Given the description of an element on the screen output the (x, y) to click on. 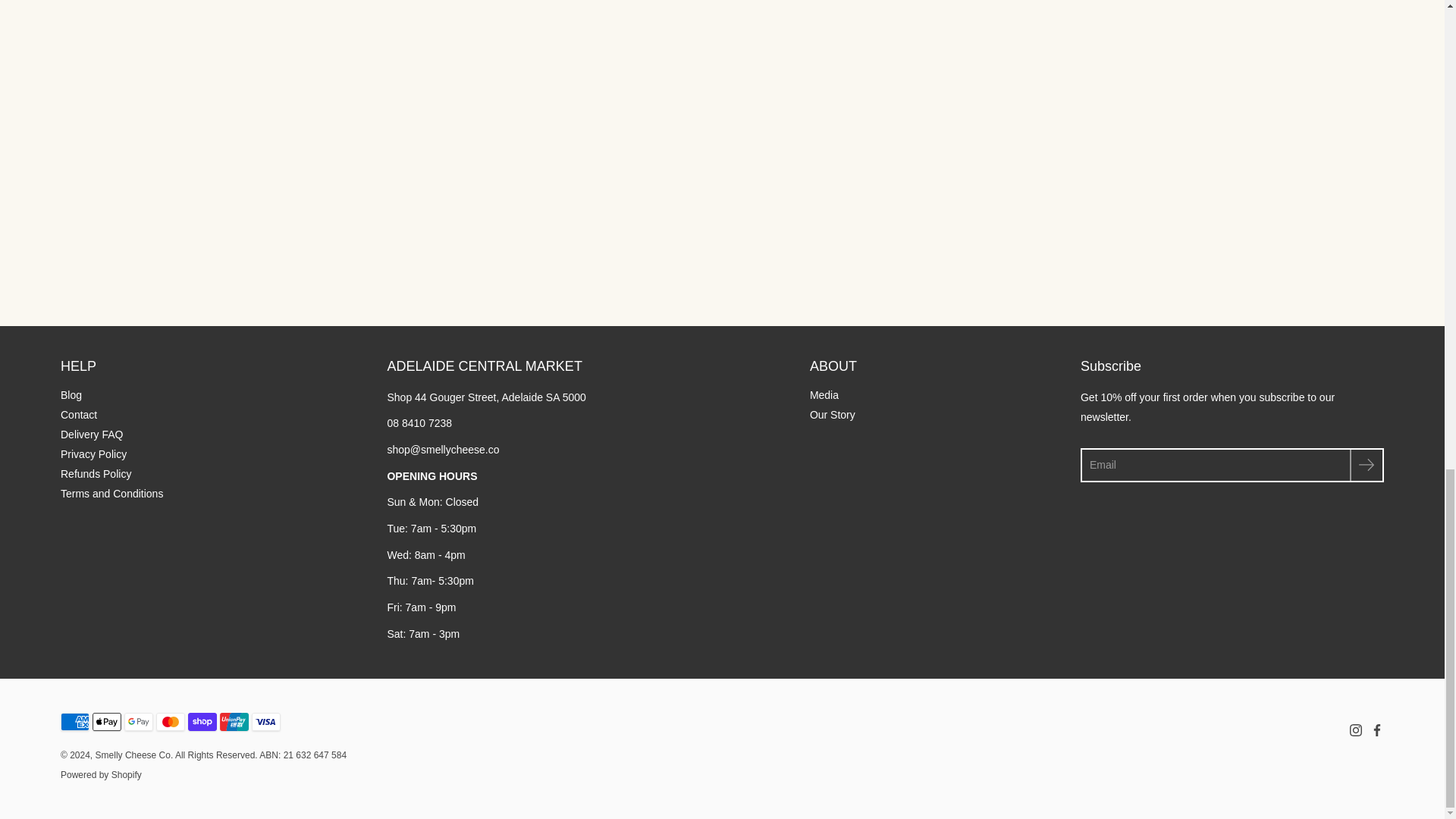
American Express (74, 721)
Mastercard (169, 721)
Apple Pay (106, 721)
Google Pay (137, 721)
